Given the description of an element on the screen output the (x, y) to click on. 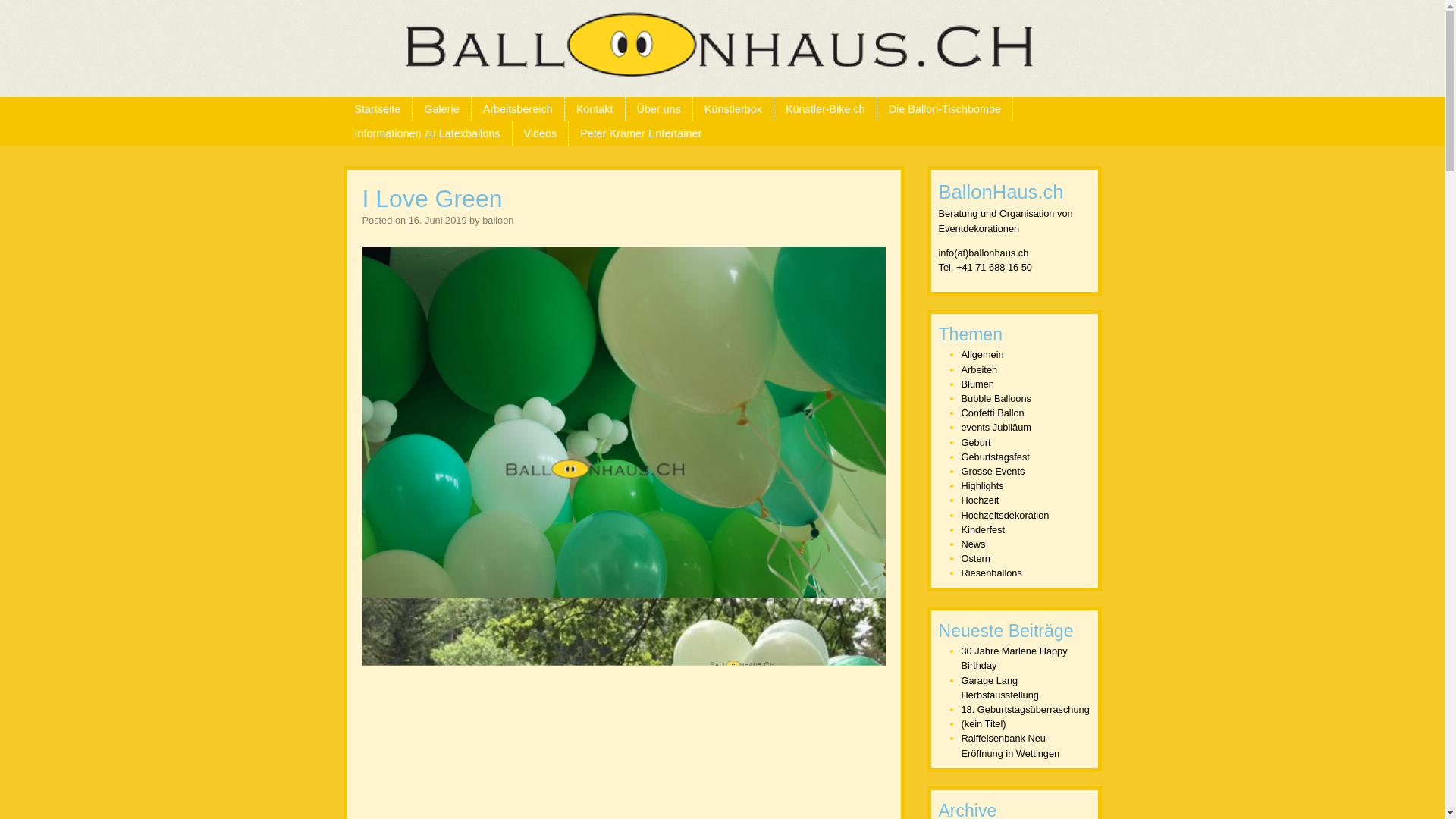
Arbeiten Element type: text (979, 369)
balloon Element type: text (497, 219)
Riesenballons Element type: text (991, 572)
Hochzeitsdekoration Element type: text (1005, 514)
Videos Element type: text (540, 133)
Grosse Events Element type: text (993, 470)
Informationen zu Latexballons Element type: text (426, 133)
Kontakt Element type: text (594, 109)
Garage Lang Herbstausstellung Element type: text (999, 687)
Highlights Element type: text (982, 485)
(kein Titel) Element type: text (983, 723)
Blumen Element type: text (977, 383)
Allgemein Element type: text (982, 354)
Arbeitsbereich Element type: text (517, 109)
Kinderfest Element type: text (983, 529)
Skip to content Element type: text (40, 106)
News Element type: text (973, 543)
Confetti Ballon Element type: text (992, 412)
30 Jahre Marlene Happy Birthday Element type: text (1014, 658)
Peter Kramer Entertainer Element type: text (640, 133)
16. Juni 2019 Element type: text (437, 219)
Startseite Element type: text (376, 109)
Ostern Element type: text (975, 558)
Bubble Balloons Element type: text (996, 398)
Geburtstagsfest Element type: text (995, 456)
Geburt Element type: text (976, 442)
Hochzeit Element type: text (980, 499)
Galerie Element type: text (441, 109)
Die Ballon-Tischbombe Element type: text (944, 109)
